Given the description of an element on the screen output the (x, y) to click on. 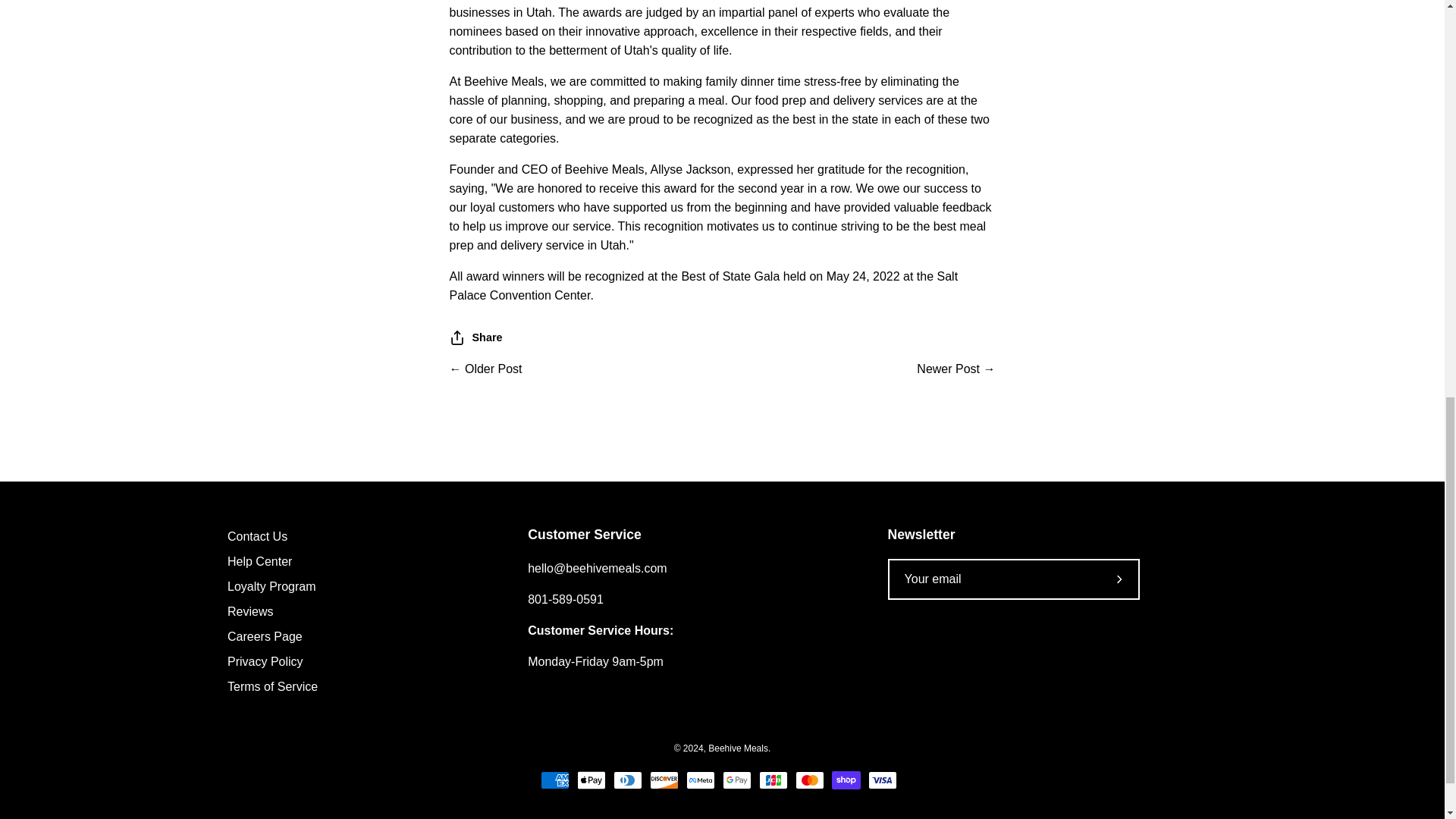
Loyalty Program (271, 585)
Careers Page (264, 635)
Privacy Policy (264, 661)
Subscribe to Our Newsletter (1120, 578)
Terms of Service (272, 686)
Share (475, 337)
Reviews (250, 611)
Help Center (259, 561)
Contact Us (256, 535)
